Given the description of an element on the screen output the (x, y) to click on. 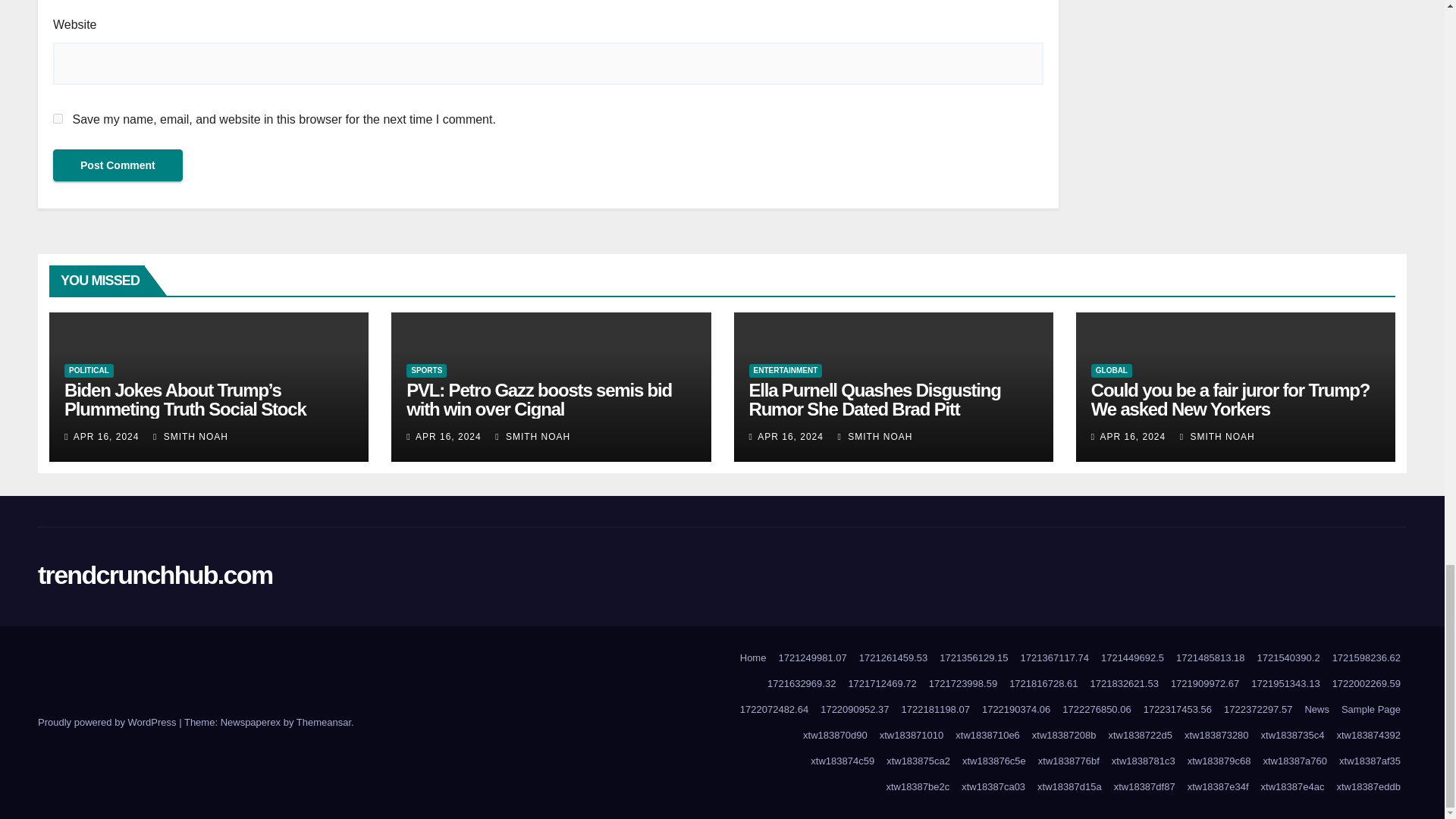
Post Comment (117, 164)
yes (57, 118)
